Given the description of an element on the screen output the (x, y) to click on. 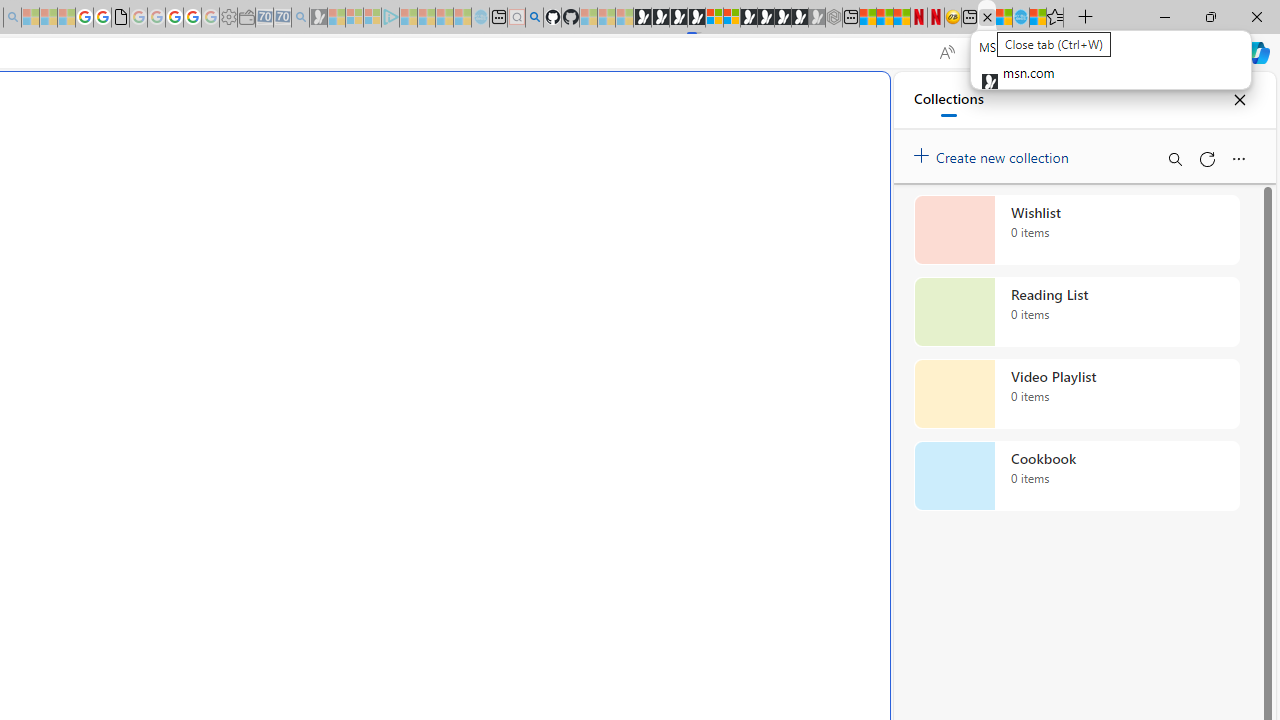
Search or enter web address (343, 191)
Tabs you've opened (276, 265)
Sign in to your account (714, 17)
Video Playlist collection, 0 items (1076, 394)
